Given the description of an element on the screen output the (x, y) to click on. 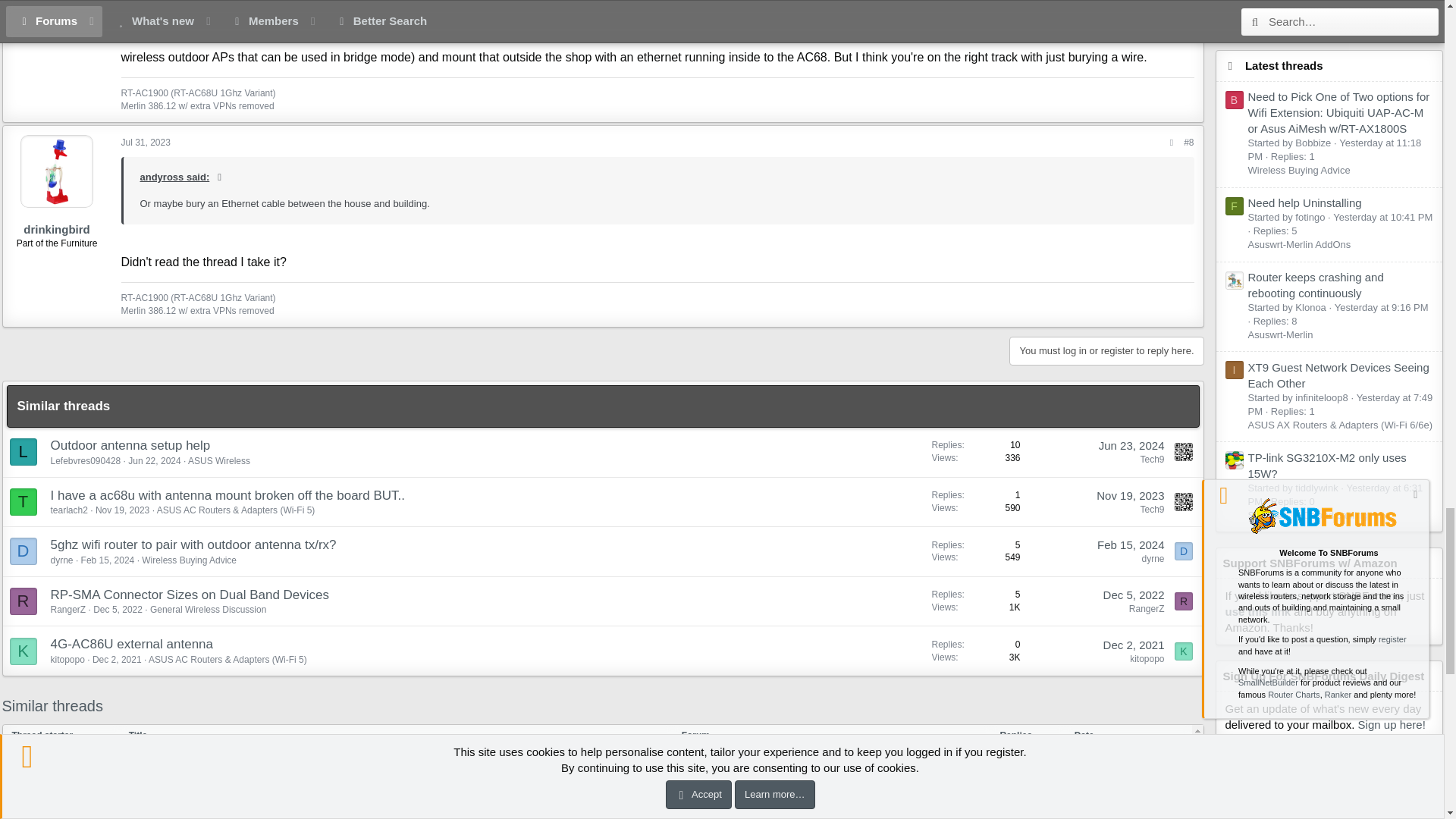
First message reaction score: 0 (975, 501)
Jun 22, 2024 at 11:24 PM (154, 460)
Jun 23, 2024 at 9:50 PM (1131, 445)
First message reaction score: 0 (975, 451)
Jul 31, 2023 at 10:53 AM (145, 142)
Nov 19, 2023 at 12:28 PM (122, 510)
